Given the description of an element on the screen output the (x, y) to click on. 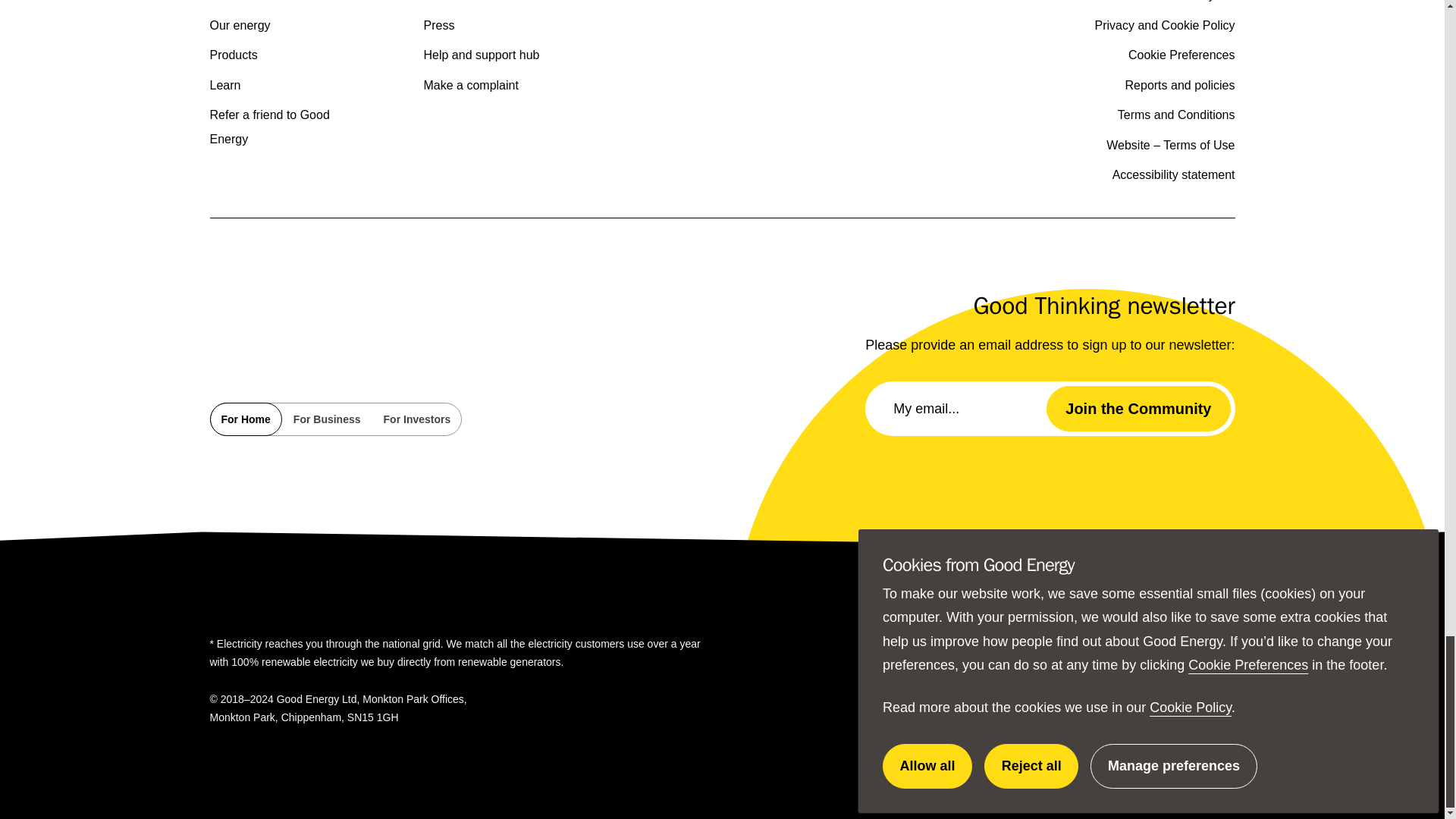
Our energy (239, 24)
Products (233, 54)
About us (233, 0)
